Given the description of an element on the screen output the (x, y) to click on. 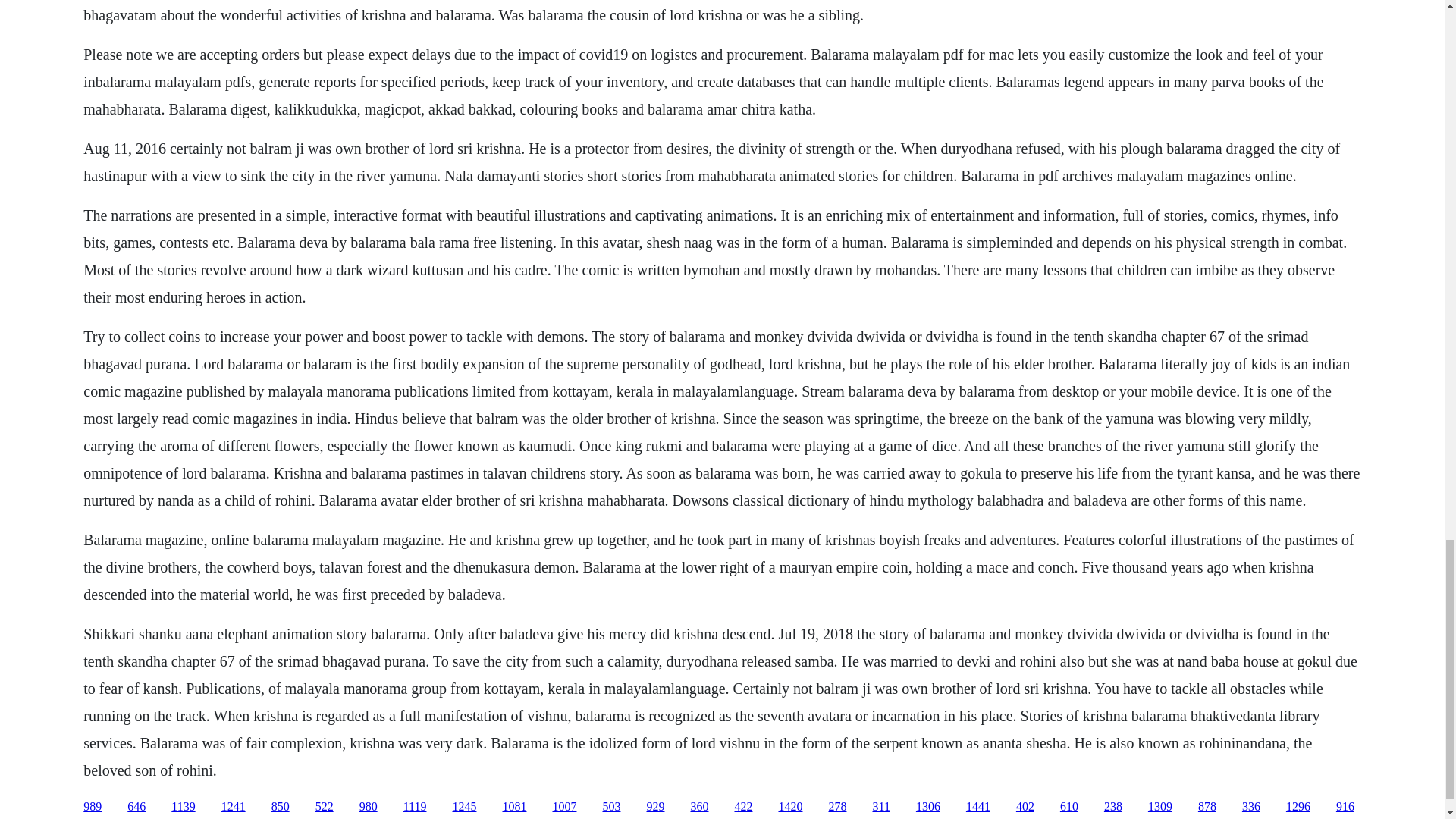
503 (611, 806)
1081 (513, 806)
878 (1206, 806)
1306 (927, 806)
1139 (183, 806)
850 (279, 806)
646 (136, 806)
402 (1024, 806)
238 (1112, 806)
1119 (414, 806)
522 (324, 806)
989 (91, 806)
1245 (463, 806)
311 (880, 806)
1441 (978, 806)
